Given the description of an element on the screen output the (x, y) to click on. 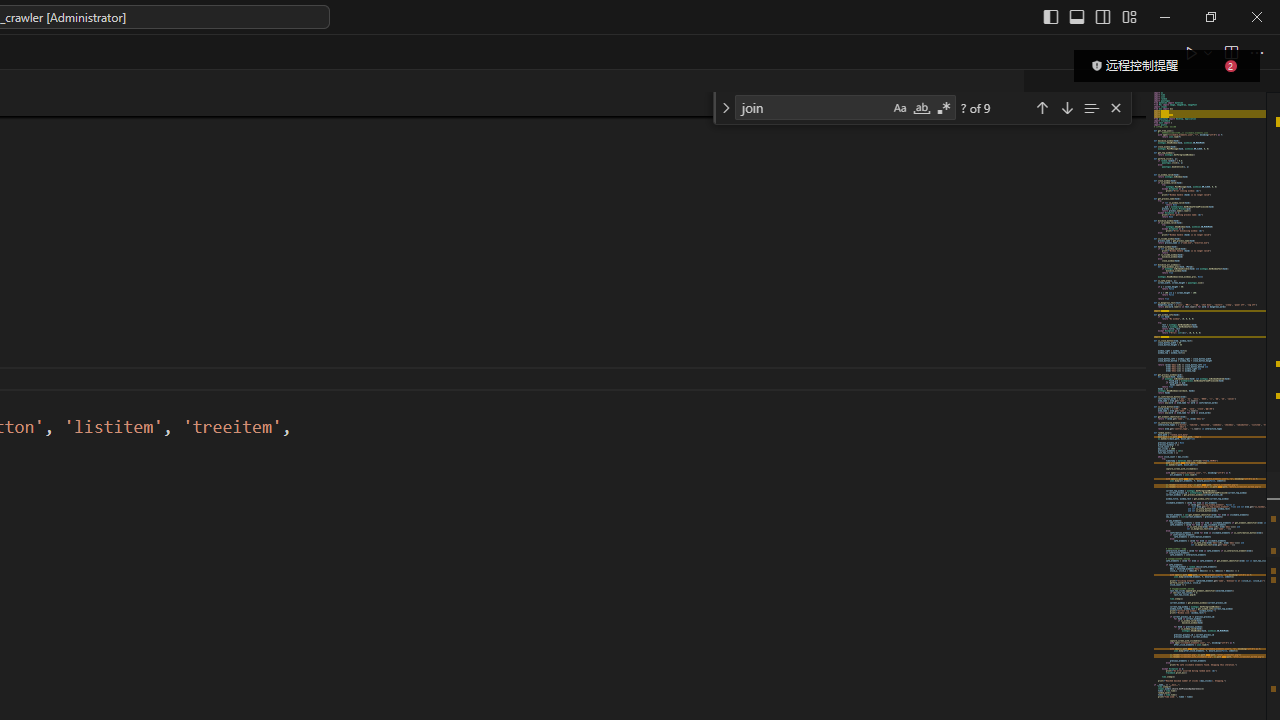
Toggle Secondary Side Bar (Ctrl+Alt+B) (1102, 16)
Run Python File (1192, 52)
Previous Match (Shift+Enter) (1041, 106)
Close (Escape) (1115, 107)
More Actions... (1256, 52)
Run or Debug... (1208, 52)
Split Editor Right (Ctrl+\) [Alt] Split Editor Down (1230, 52)
